Given the description of an element on the screen output the (x, y) to click on. 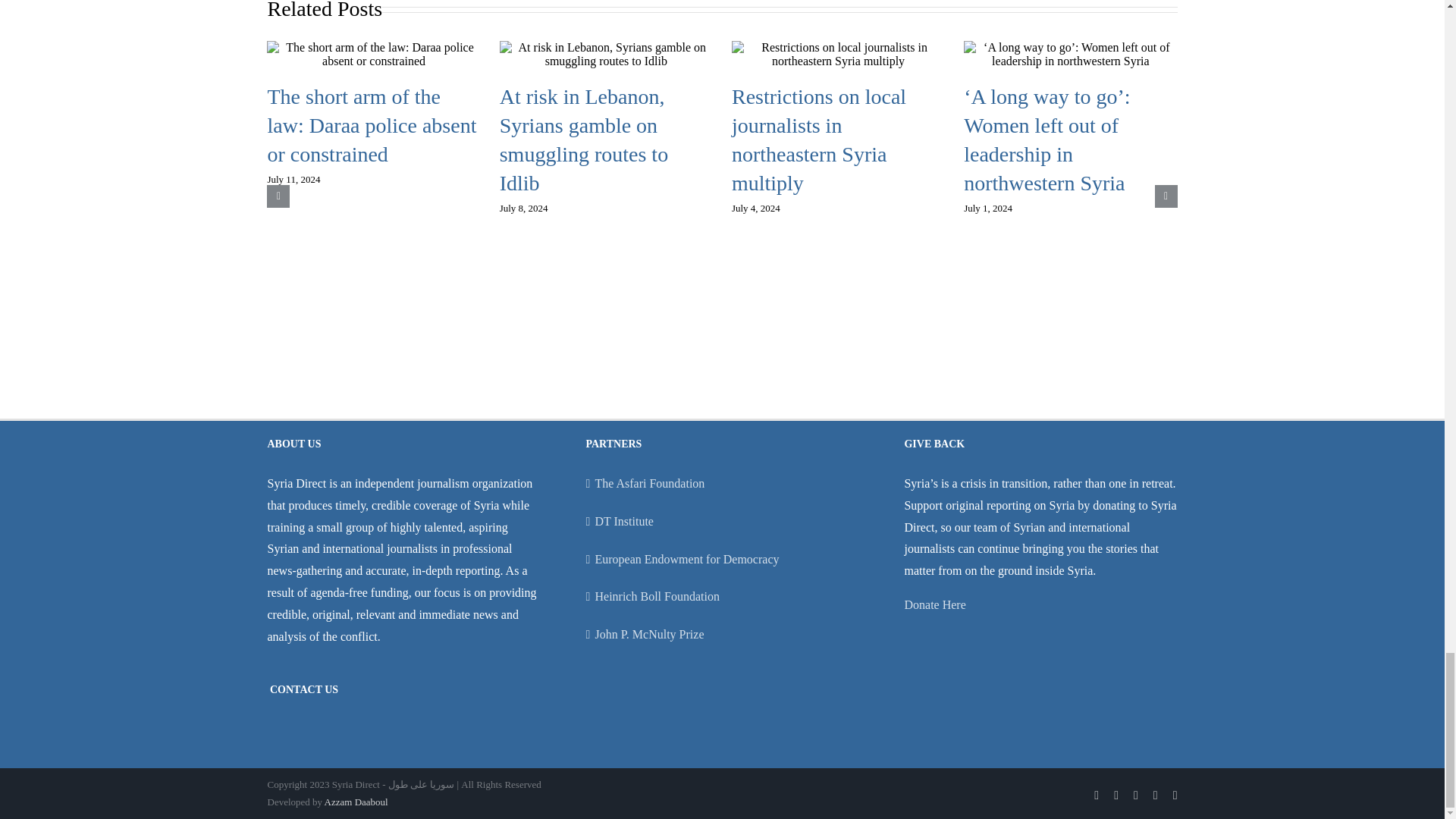
The short arm of the law: Daraa police absent or constrained (371, 125)
